Given the description of an element on the screen output the (x, y) to click on. 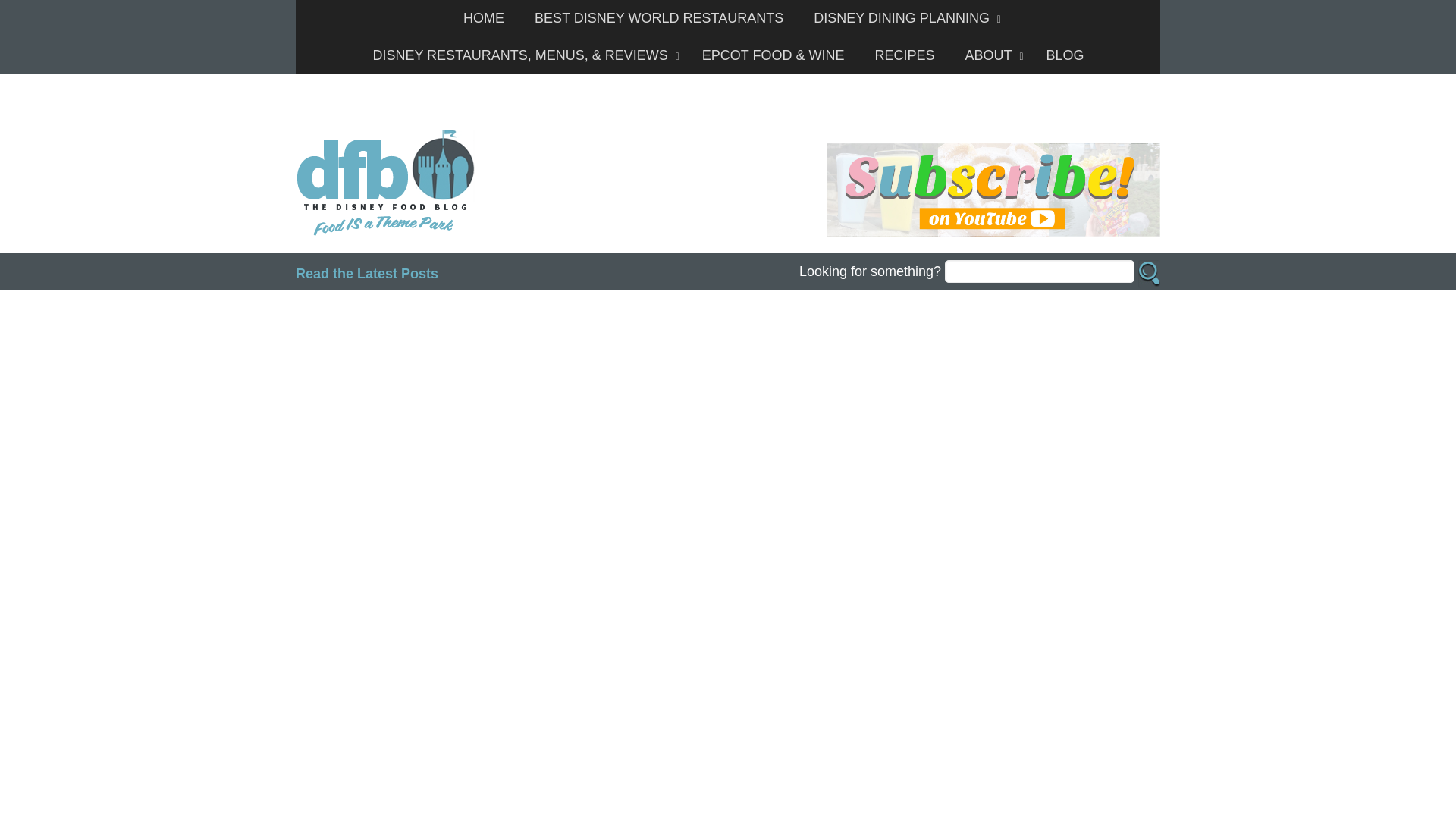
DISNEY DINING PLANNING (903, 18)
BEST DISNEY WORLD RESTAURANTS (658, 18)
HOME (483, 18)
